Given the description of an element on the screen output the (x, y) to click on. 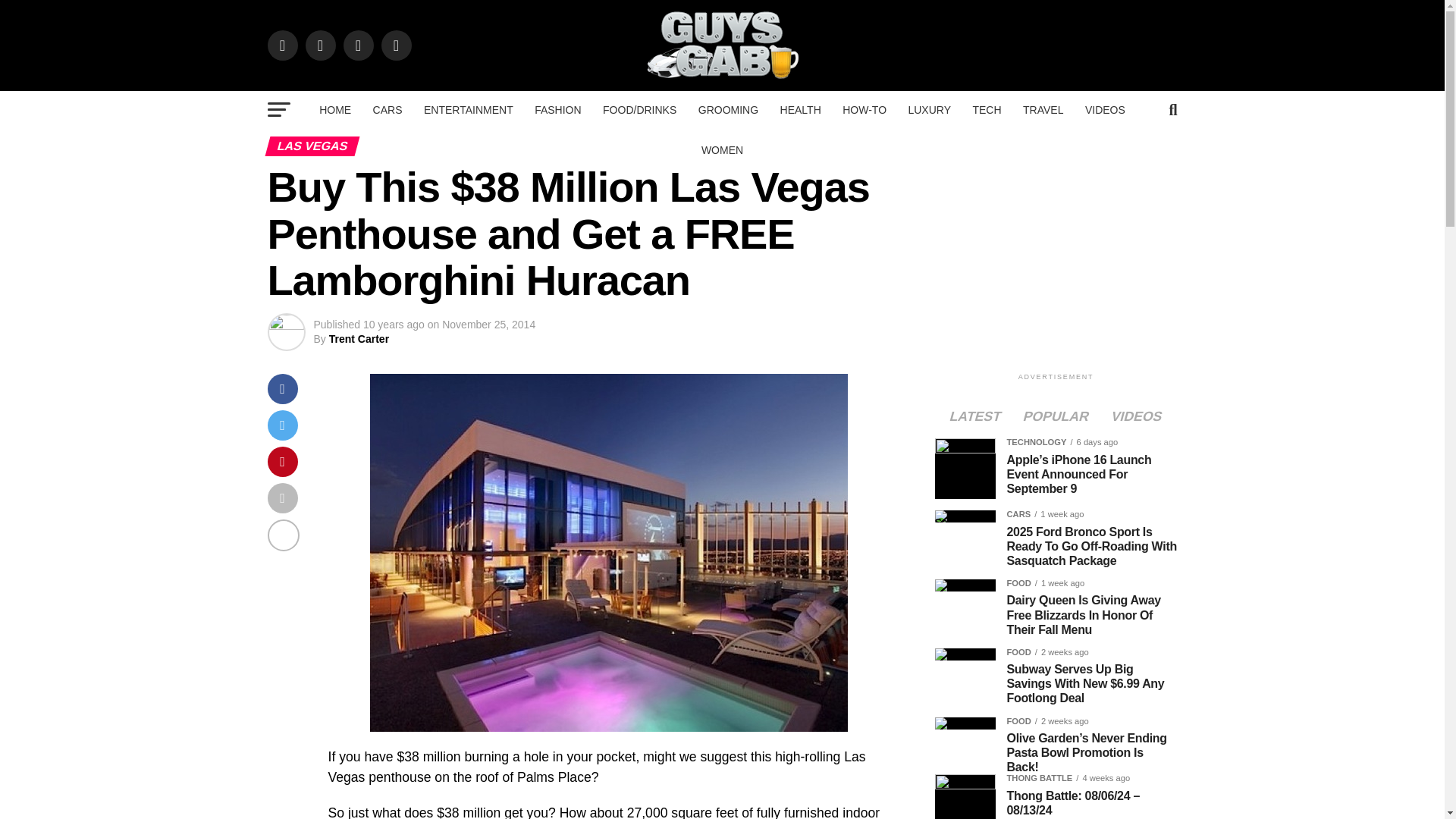
HOME (334, 109)
CARS (388, 109)
Posts by Trent Carter (358, 338)
